Given the description of an element on the screen output the (x, y) to click on. 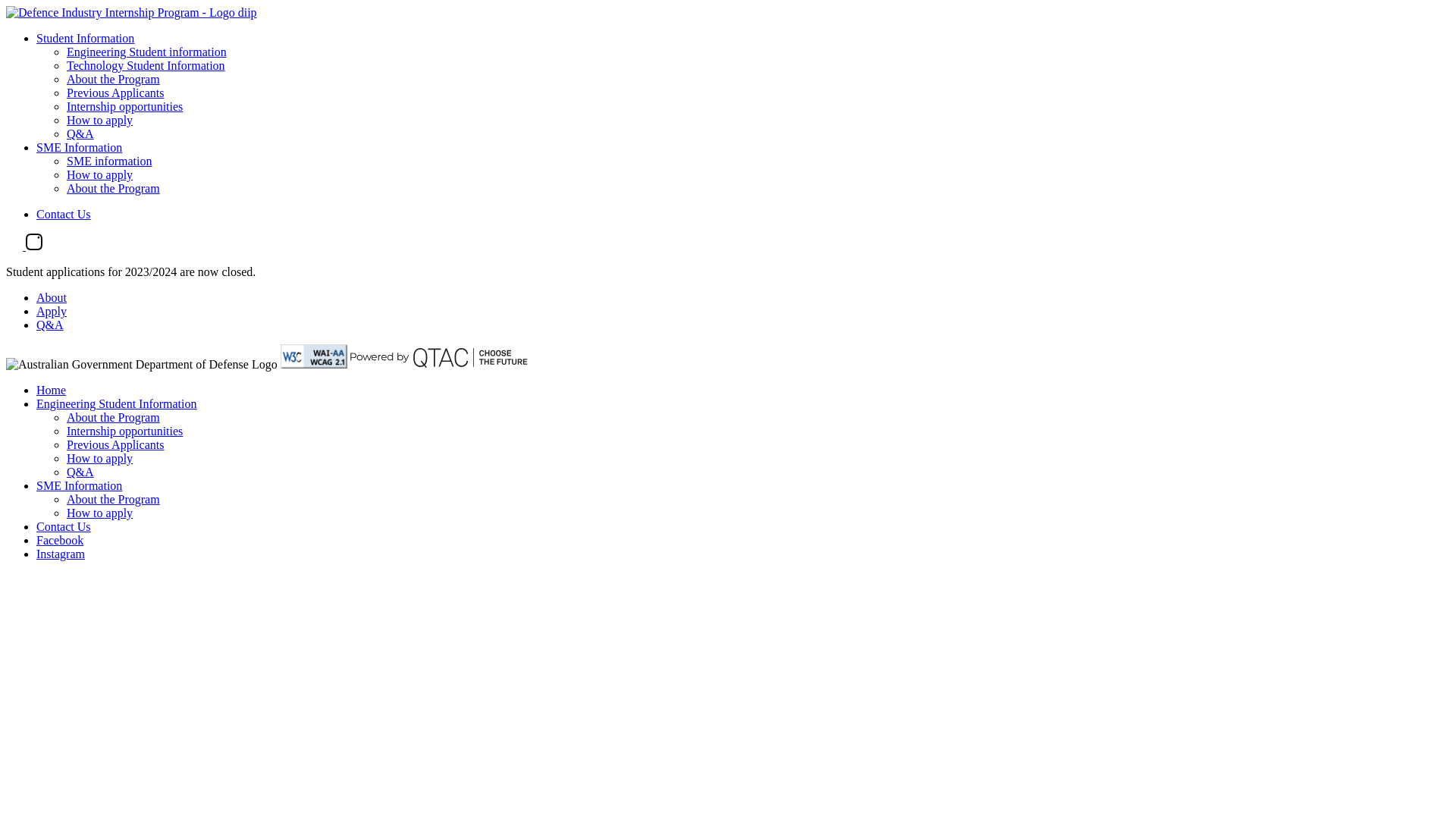
Technology Student Information Element type: text (145, 65)
How to apply Element type: text (99, 174)
Apply Element type: text (51, 310)
Previous Applicants Element type: text (114, 92)
How to apply Element type: text (99, 512)
Facebook Element type: text (59, 539)
Q&A Element type: text (80, 133)
About the Program Element type: text (113, 188)
Icon/Facebook Created with Sketch. Element type: text (14, 245)
Previous Applicants Element type: text (114, 444)
About the Program Element type: text (113, 78)
SME Information Element type: text (79, 147)
About the Program Element type: text (113, 498)
Icon/Instagram Created with Sketch. Element type: text (32, 245)
Q&A Element type: text (80, 471)
Contact Us Element type: text (63, 526)
Home Element type: text (50, 389)
Engineering Student Information Element type: text (116, 403)
SME information Element type: text (108, 160)
Contact Us Element type: text (63, 213)
Internship opportunities Element type: text (124, 106)
Student Information Element type: text (85, 37)
How to apply Element type: text (99, 457)
SME Information Element type: text (79, 485)
Instagram Element type: text (60, 553)
About Element type: text (51, 297)
How to apply Element type: text (99, 119)
About the Program Element type: text (113, 417)
Internship opportunities Element type: text (124, 430)
Engineering Student information Element type: text (146, 51)
Q&A Element type: text (49, 324)
